Given the description of an element on the screen output the (x, y) to click on. 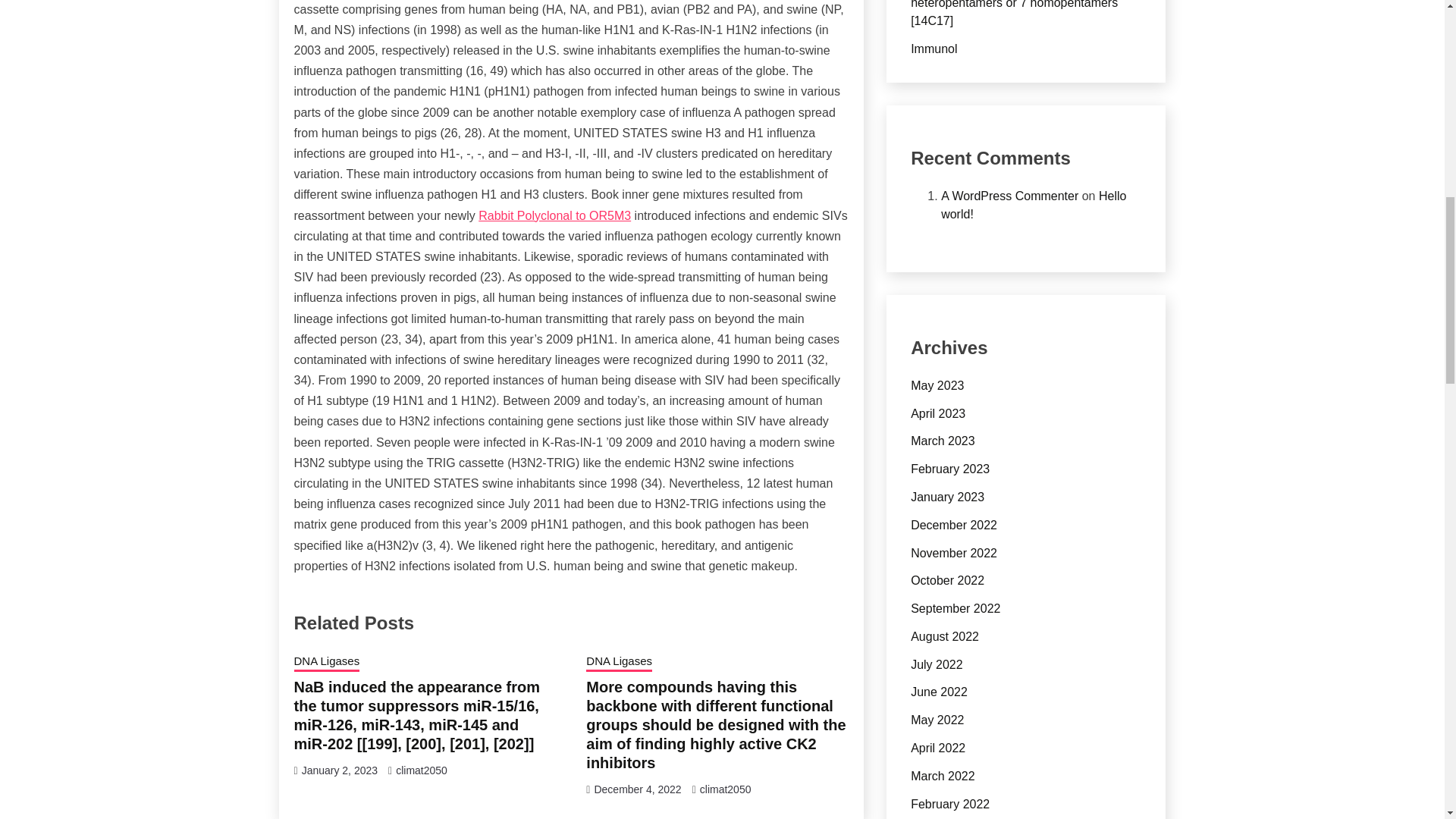
March 2023 (943, 440)
February 2023 (950, 468)
April 2023 (938, 413)
December 2022 (954, 524)
January 2, 2023 (339, 770)
May 2023 (937, 385)
January 2023 (947, 496)
November 2022 (954, 552)
DNA Ligases (619, 662)
Hello world! (1032, 204)
Immunol (933, 48)
climat2050 (421, 770)
Rabbit Polyclonal to OR5M3 (554, 215)
A WordPress Commenter (1009, 195)
